Given the description of an element on the screen output the (x, y) to click on. 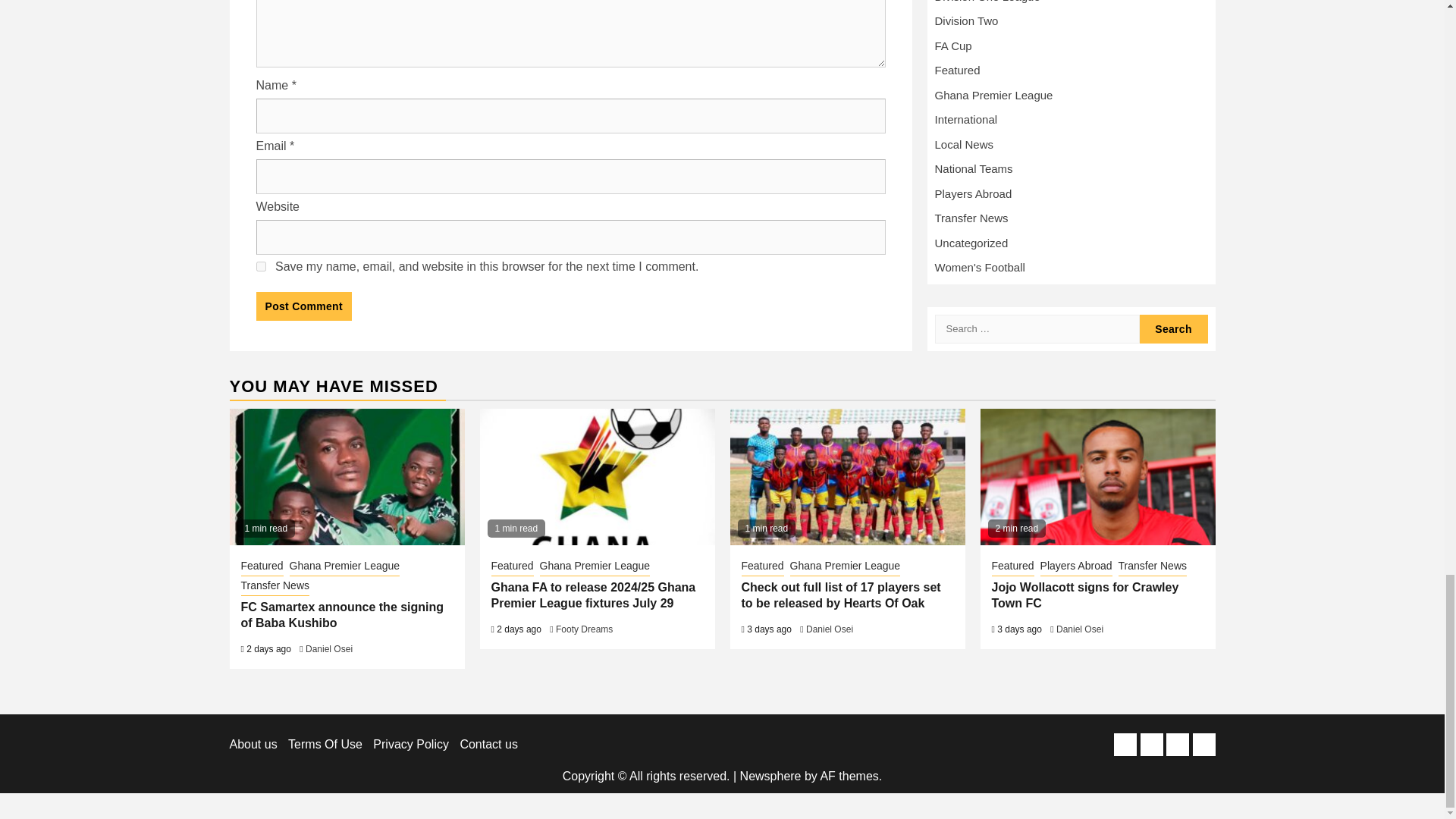
Post Comment (304, 306)
yes (261, 266)
